Given the description of an element on the screen output the (x, y) to click on. 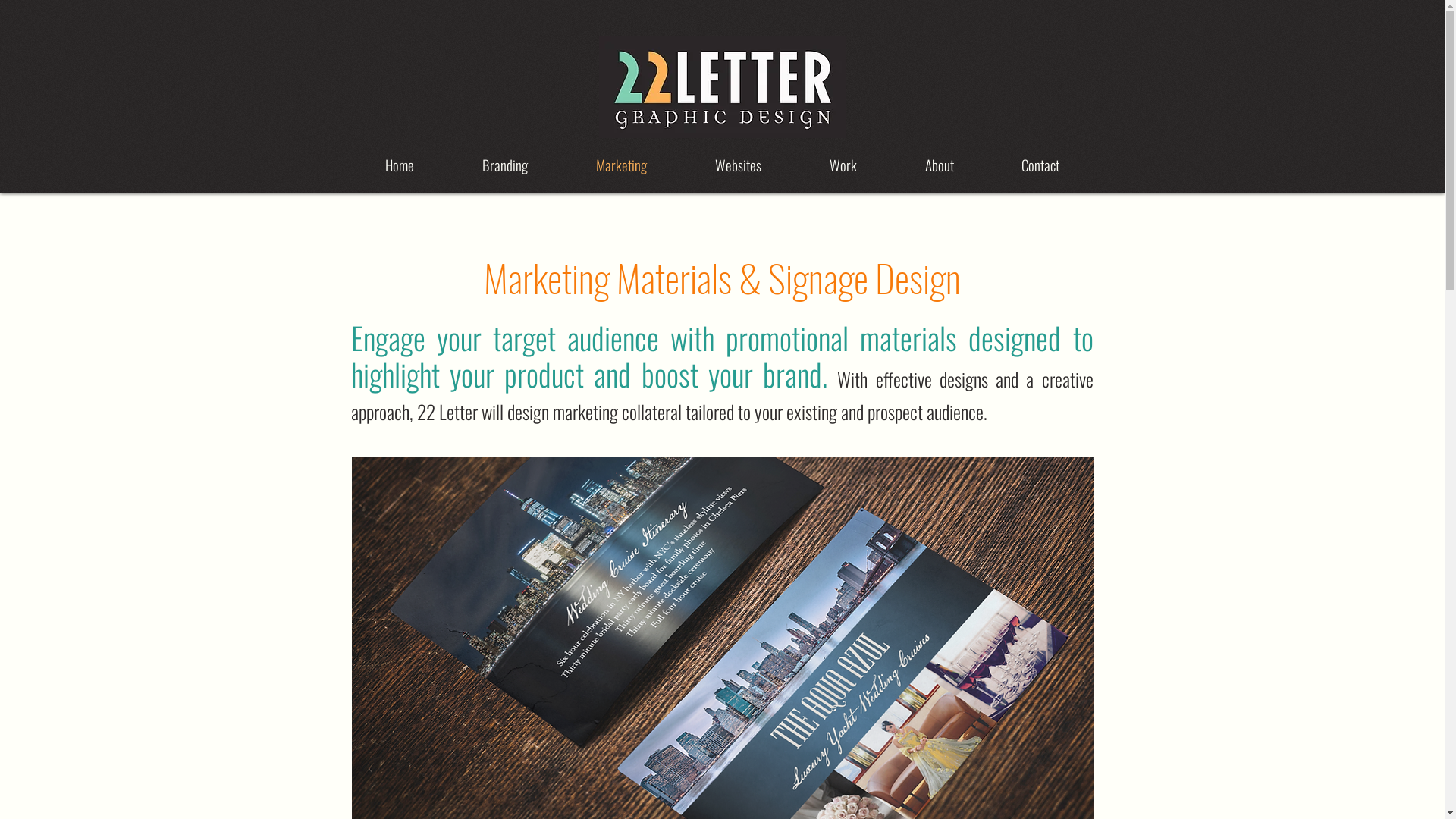
Home Element type: text (398, 164)
Contact Element type: text (1039, 164)
Websites Element type: text (737, 164)
Marketing Element type: text (620, 164)
About Element type: text (938, 164)
Branding Element type: text (504, 164)
Work Element type: text (842, 164)
